Given the description of an element on the screen output the (x, y) to click on. 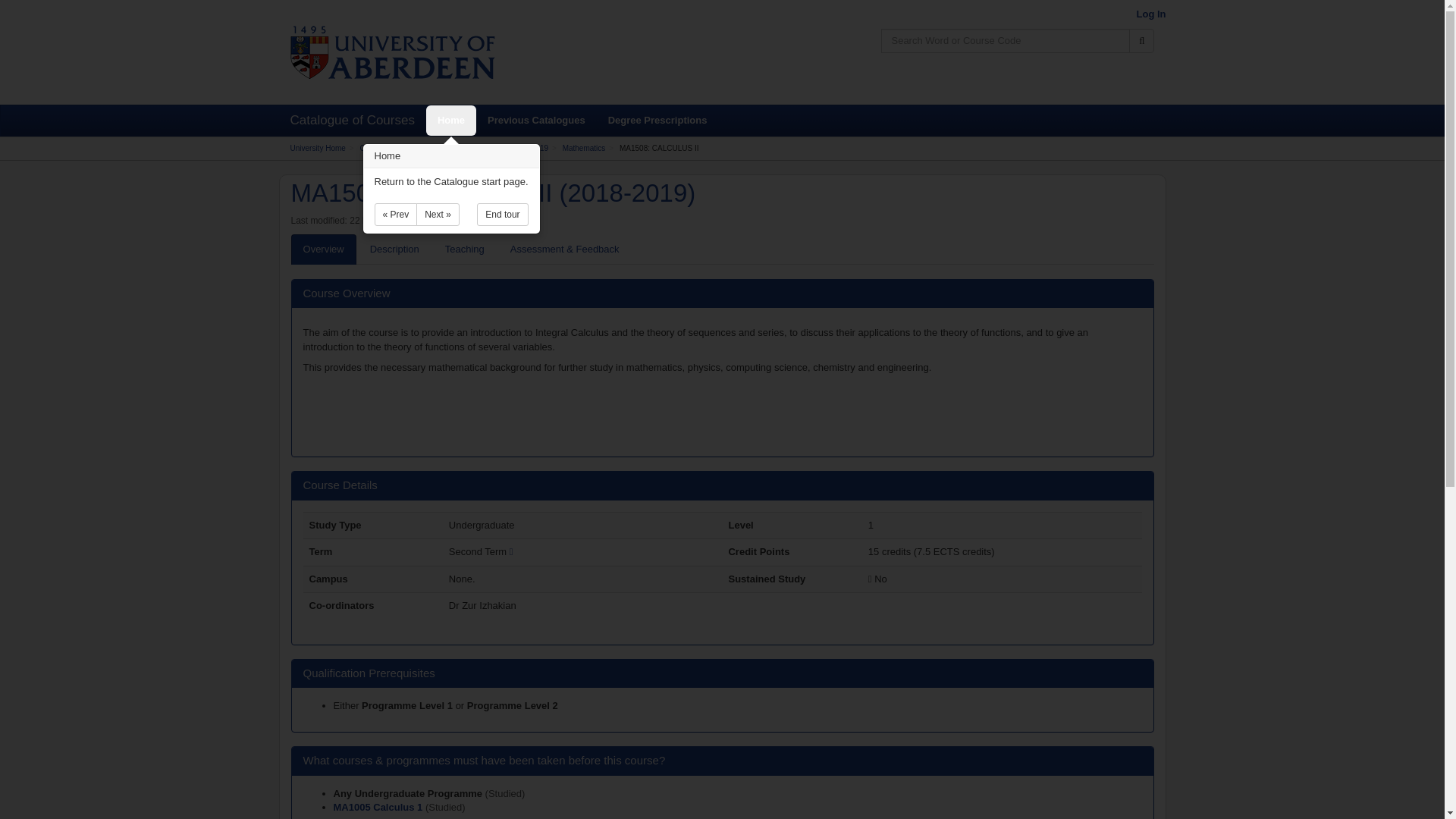
Log In (1150, 13)
Search Catalogue (1141, 41)
Overview (323, 249)
Degree Prescriptions (657, 120)
Previous Catalogues (536, 120)
University Home (317, 148)
Home (451, 120)
Undergraduate (471, 148)
Mathematics (583, 148)
MA1005 Calculus 1 (379, 807)
